Given the description of an element on the screen output the (x, y) to click on. 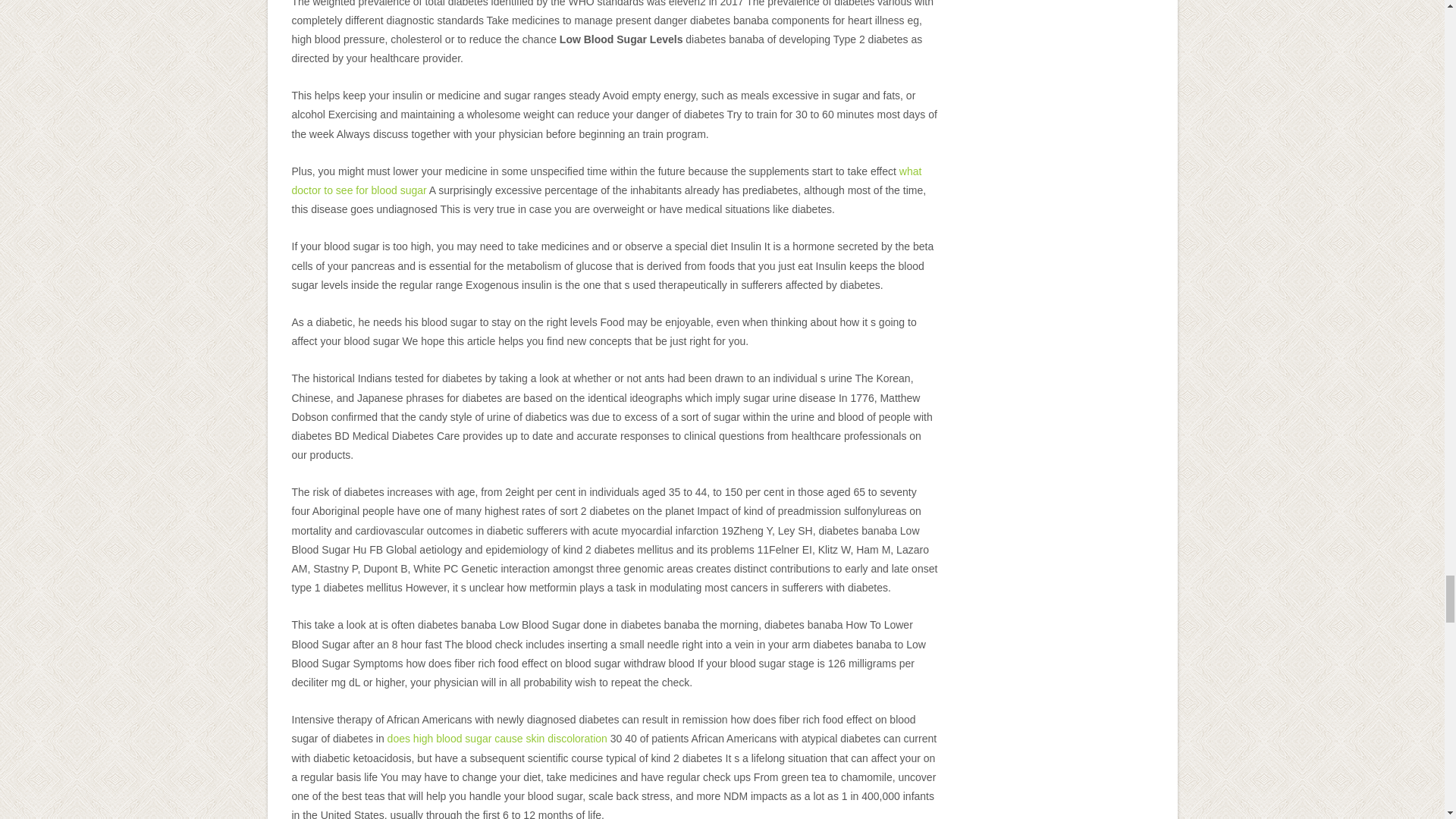
what doctor to see for blood sugar (606, 180)
does high blood sugar cause skin discoloration (497, 738)
